Given the description of an element on the screen output the (x, y) to click on. 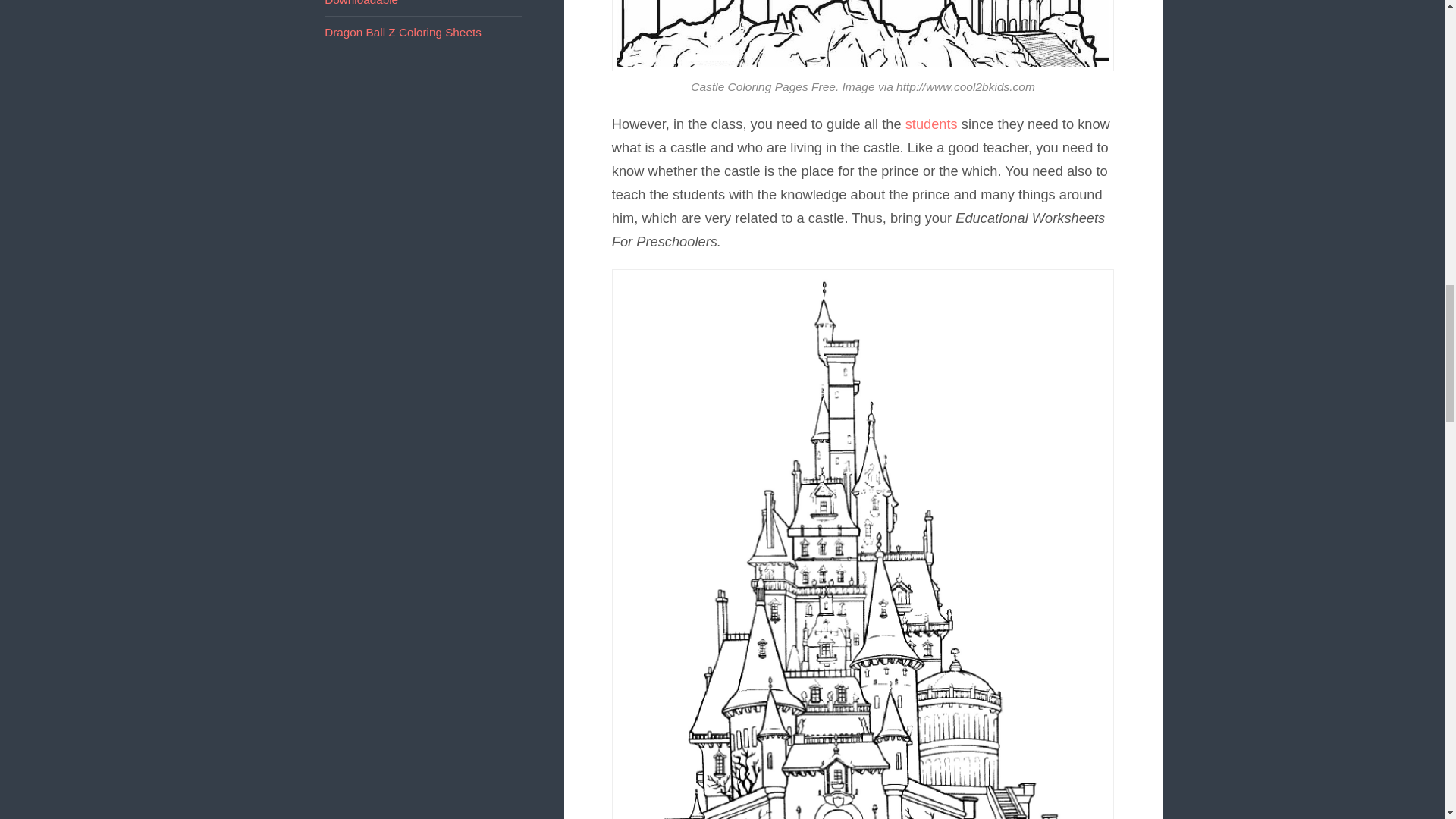
Dragon Ball Z Coloring Sheets (402, 31)
Pacman Coloring Pages Downloadable (386, 2)
